Given the description of an element on the screen output the (x, y) to click on. 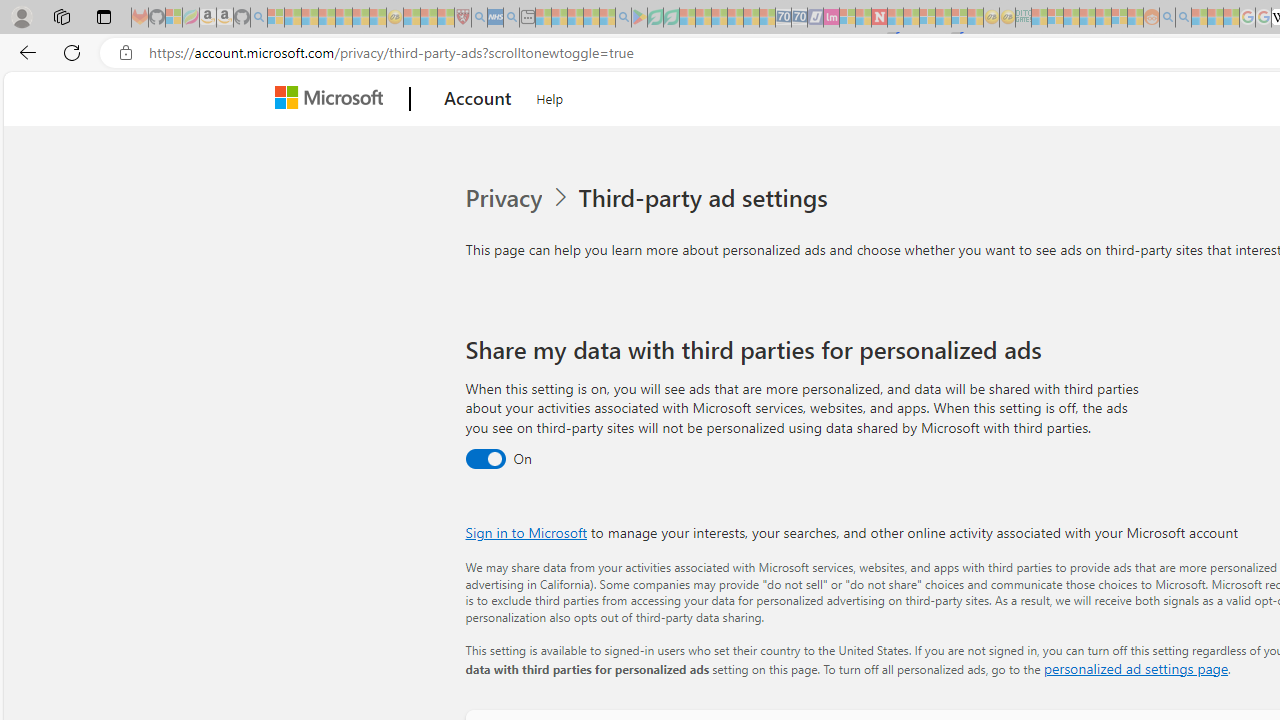
utah sues federal government - Search - Sleeping (511, 17)
Cheap Hotels - Save70.com - Sleeping (799, 17)
DITOGAMES AG Imprint - Sleeping (1023, 17)
Microsoft (332, 99)
Latest Politics News & Archive | Newsweek.com - Sleeping (879, 17)
Pets - MSN - Sleeping (591, 17)
